Given the description of an element on the screen output the (x, y) to click on. 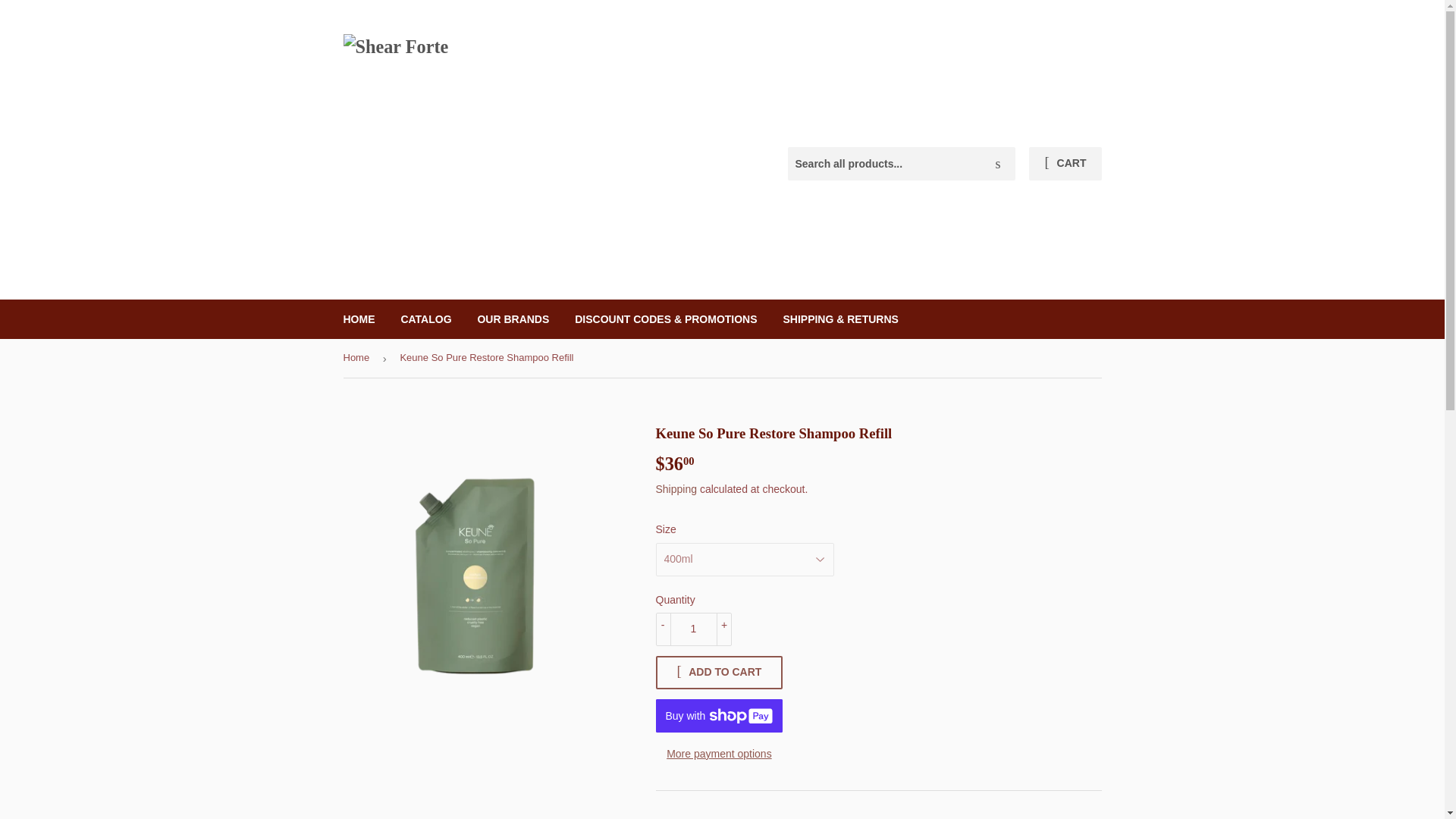
CATALOG (425, 319)
Search (997, 164)
Shipping (676, 489)
1 (692, 629)
ADD TO CART (714, 672)
CART (1064, 163)
OUR BRANDS (512, 319)
HOME (359, 319)
